Given the description of an element on the screen output the (x, y) to click on. 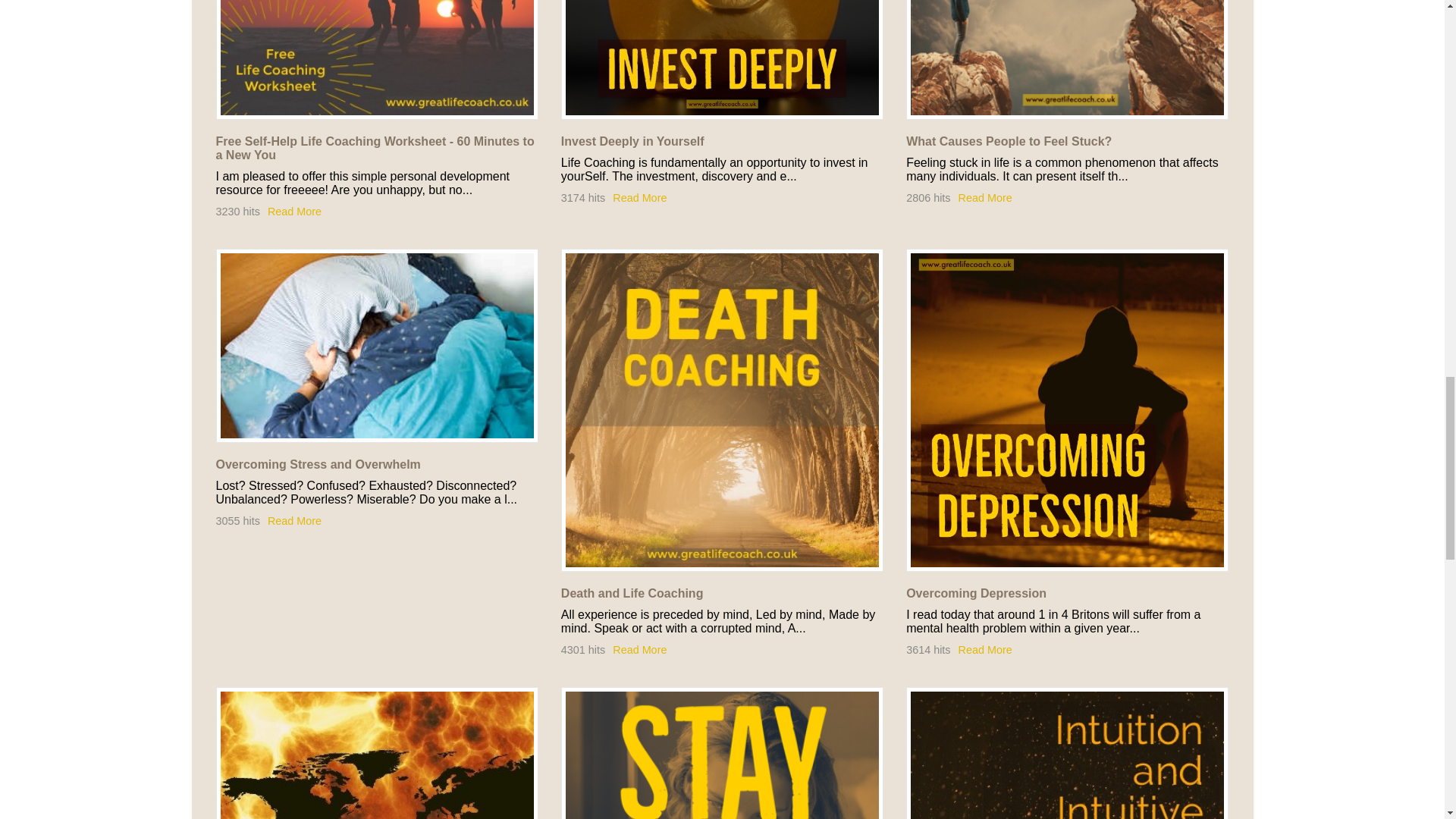
What Causes People to Feel Stuck? (1066, 59)
Overcoming Stress and Overwhelm (376, 345)
Invest Deeply in Yourself (632, 141)
Invest Deeply in Yourself (721, 59)
What Causes People to Feel Stuck? (1008, 141)
